Given the description of an element on the screen output the (x, y) to click on. 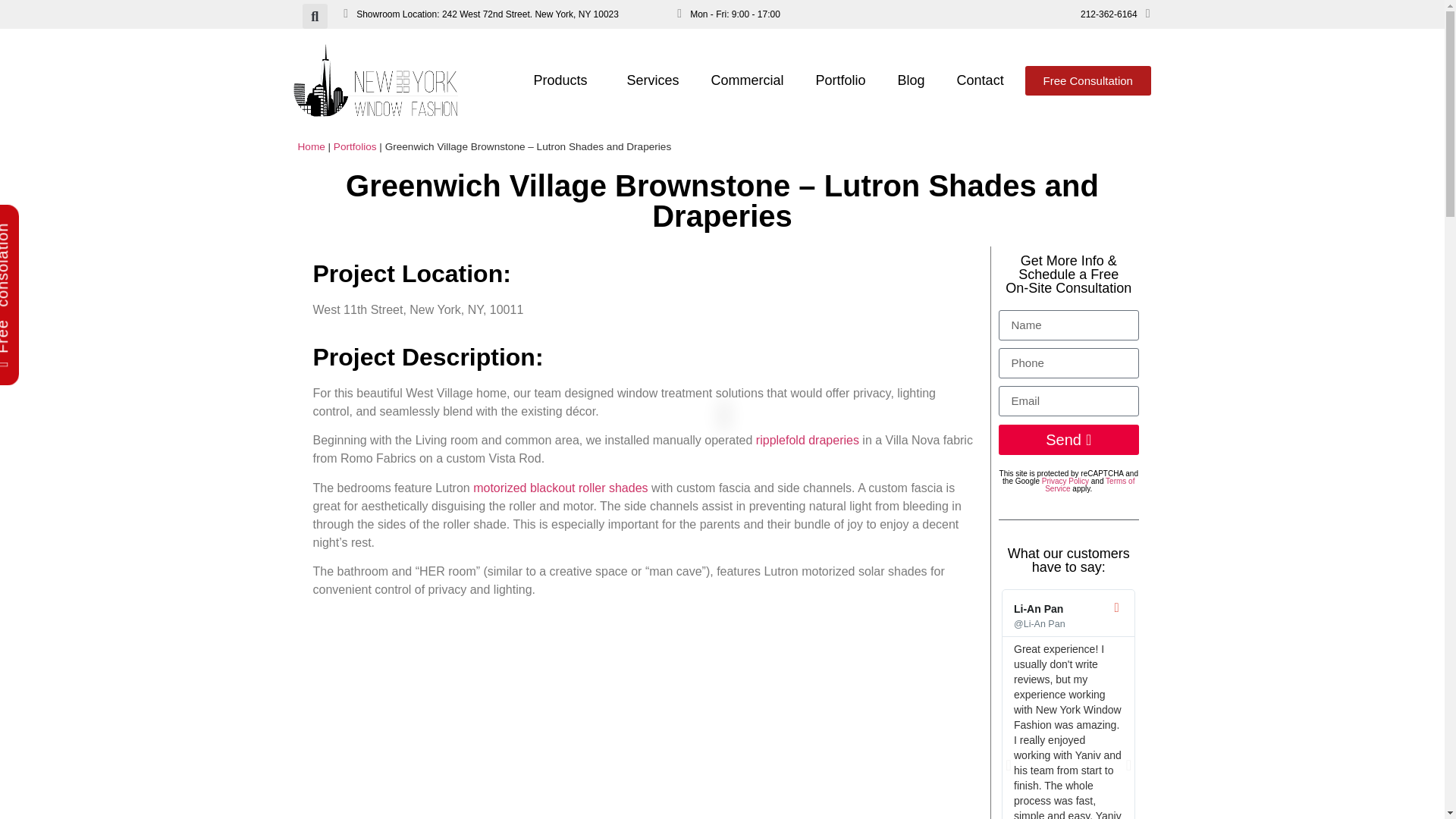
212-362-6164 (1108, 14)
Products (564, 80)
